Given the description of an element on the screen output the (x, y) to click on. 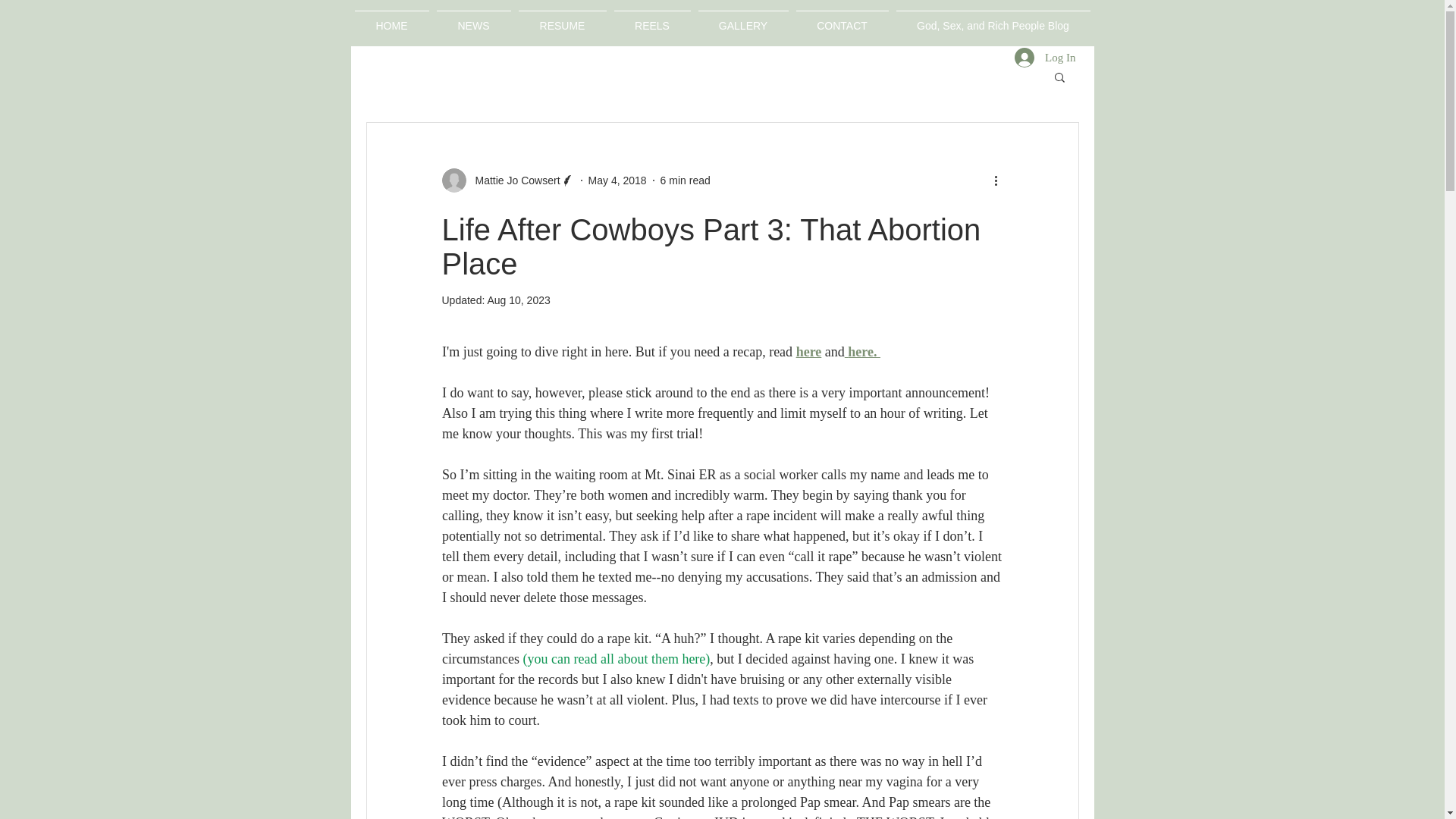
Mattie Jo Cowsert (512, 180)
HOME (391, 18)
6 min read (685, 180)
GALLERY (743, 18)
CONTACT (841, 18)
Aug 10, 2023 (518, 300)
here (807, 351)
Log In (1045, 57)
May 4, 2018 (617, 180)
Mattie Jo Cowsert (507, 180)
here.  (863, 351)
RESUME (561, 18)
God, Sex, and Rich People Blog (992, 18)
NEWS (472, 18)
